Given the description of an element on the screen output the (x, y) to click on. 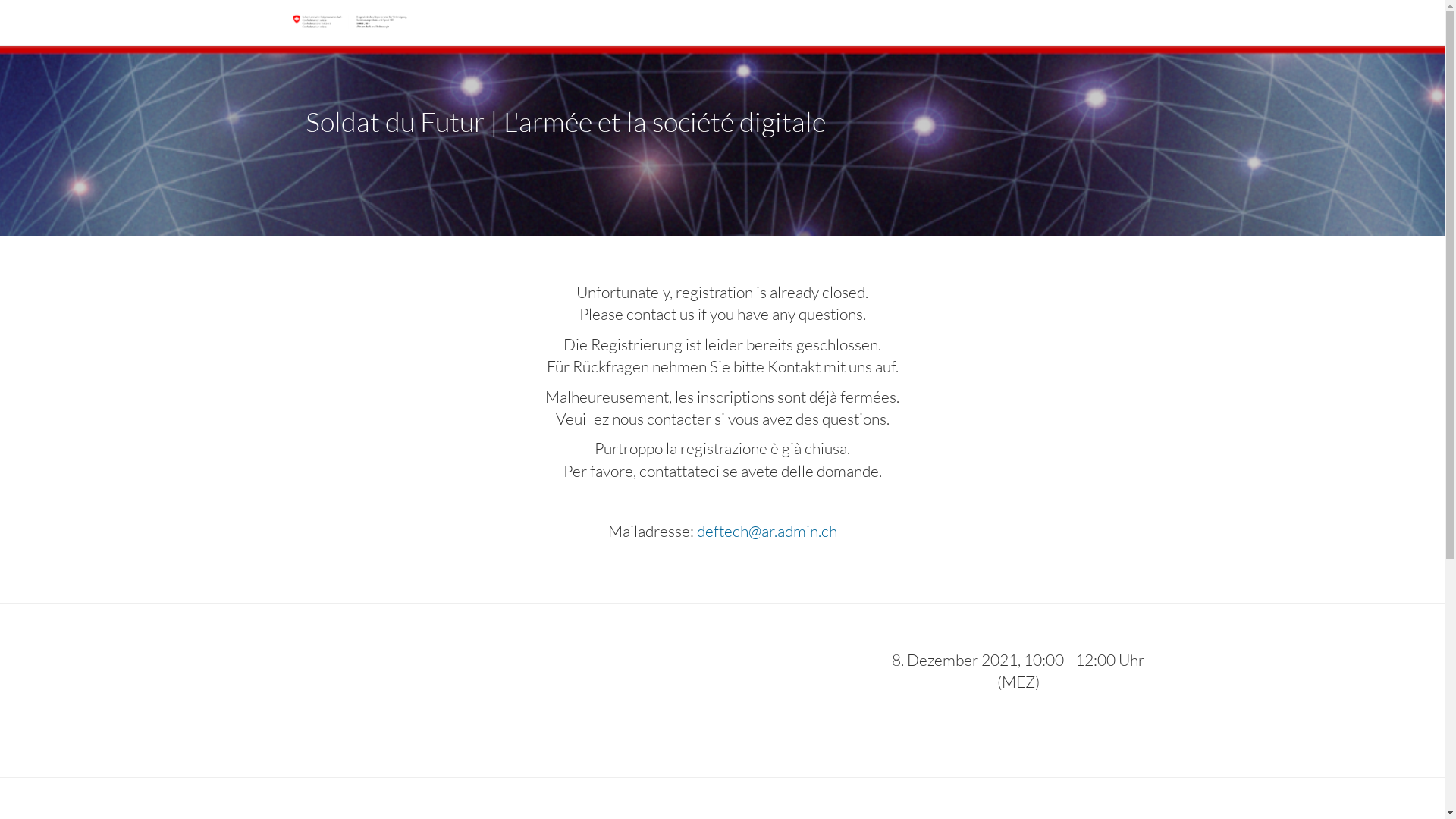
deftech@ar.admin.ch Element type: text (766, 530)
